Given the description of an element on the screen output the (x, y) to click on. 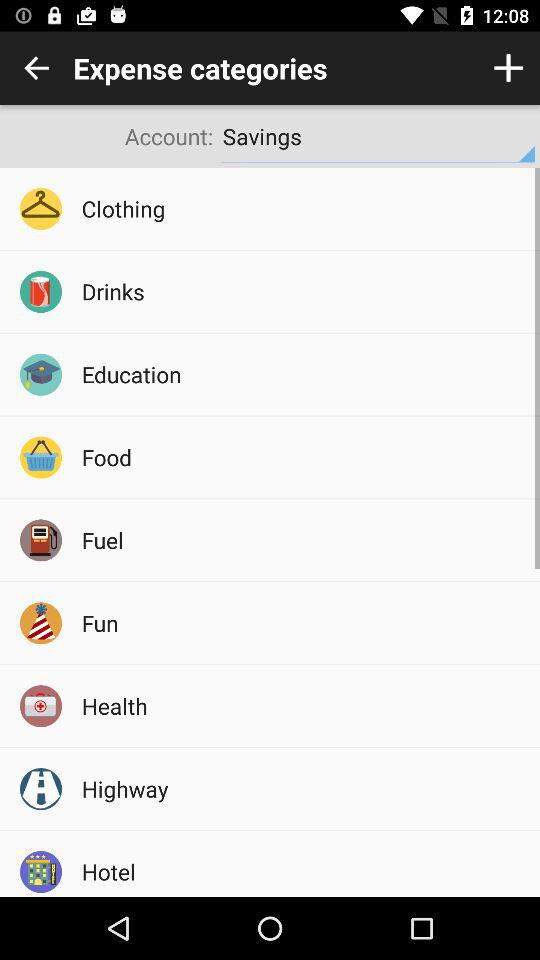
choose the icon to the right of account: (378, 136)
